Given the description of an element on the screen output the (x, y) to click on. 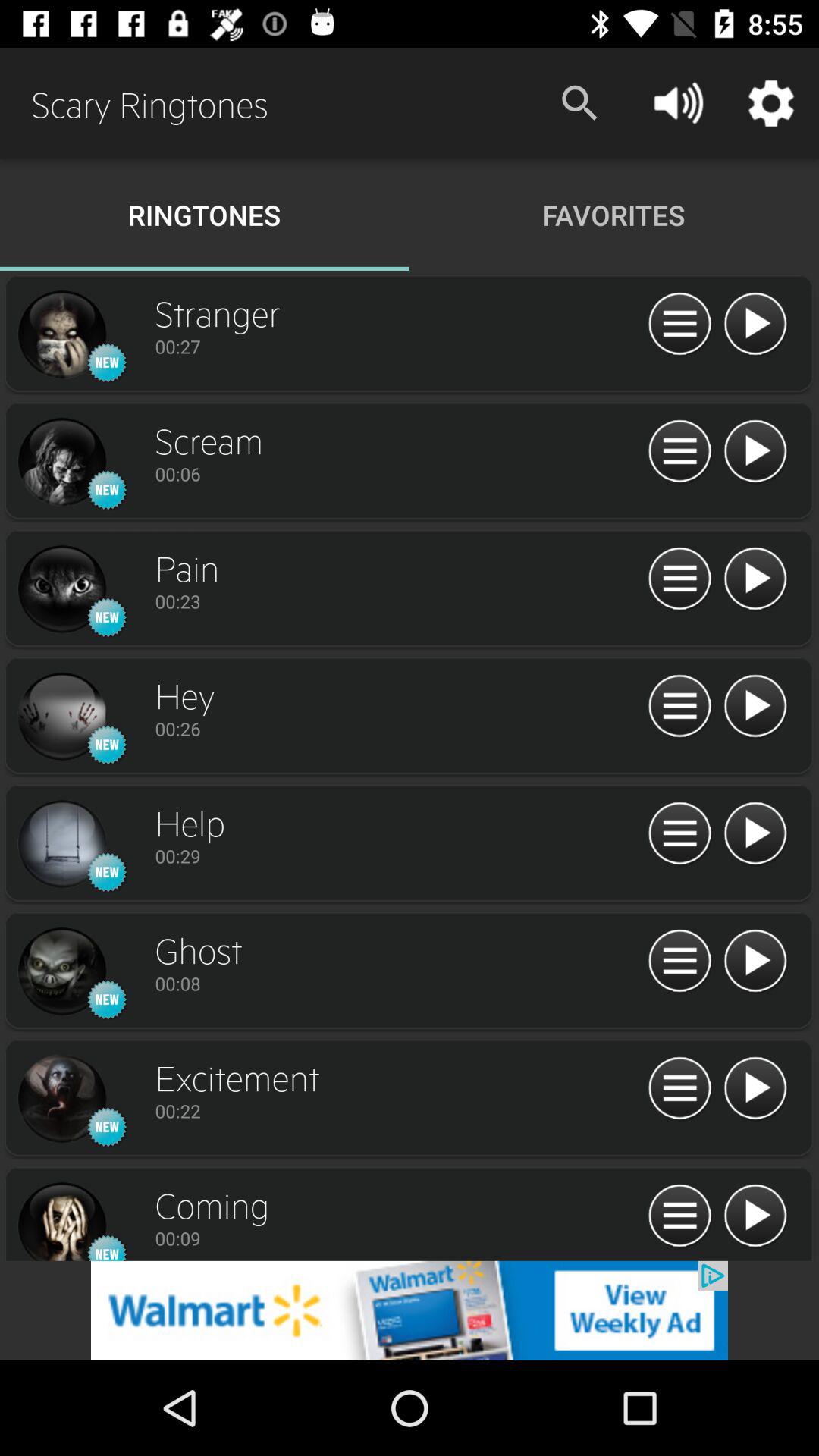
advertisement area (409, 1310)
